Given the description of an element on the screen output the (x, y) to click on. 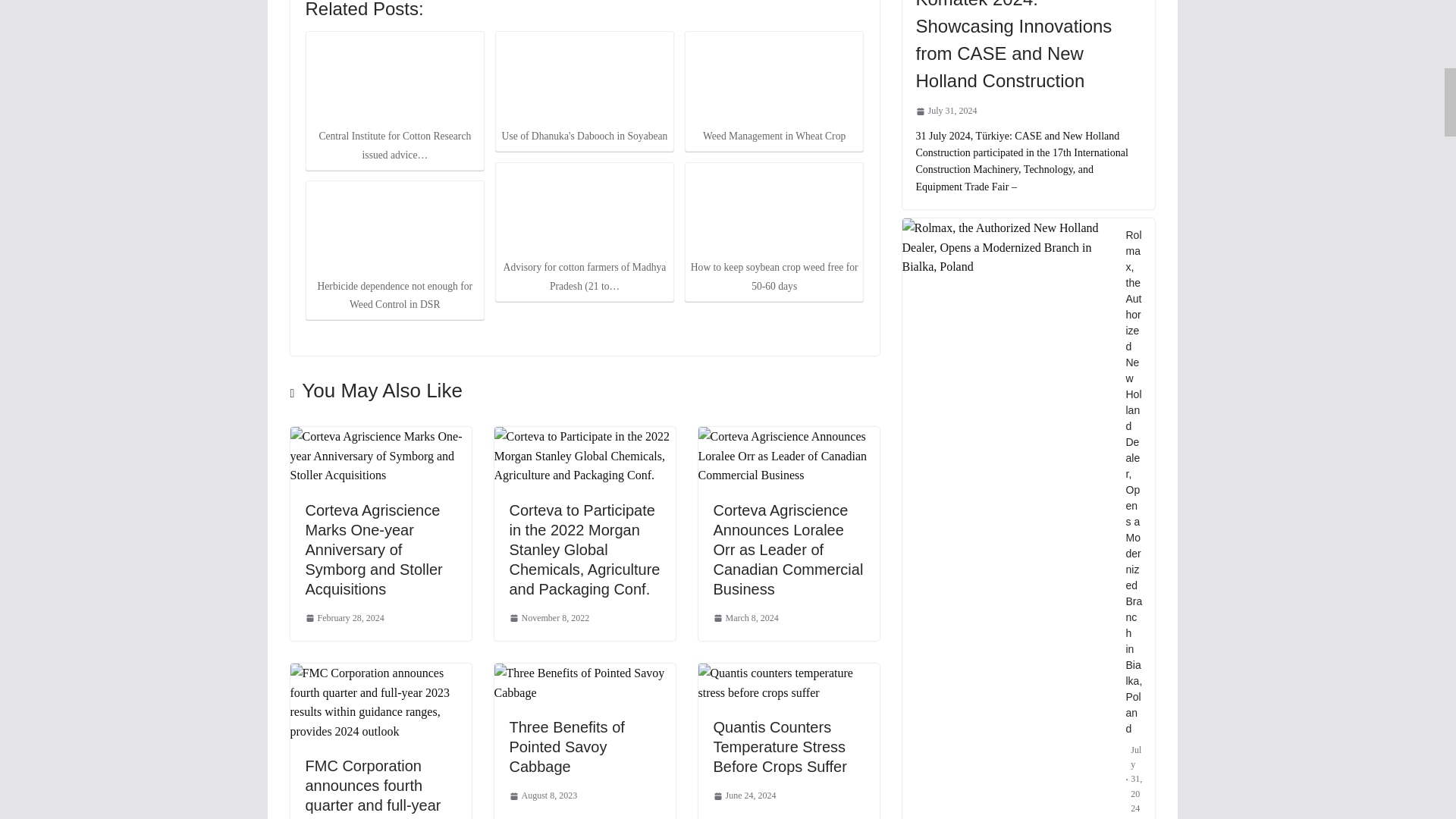
Herbicide dependence not enough for Weed Control in DSR (394, 228)
Use of Dhanuka's Dabooch in Soyabean (584, 79)
Weed Management in Wheat Crop (774, 79)
